Given the description of an element on the screen output the (x, y) to click on. 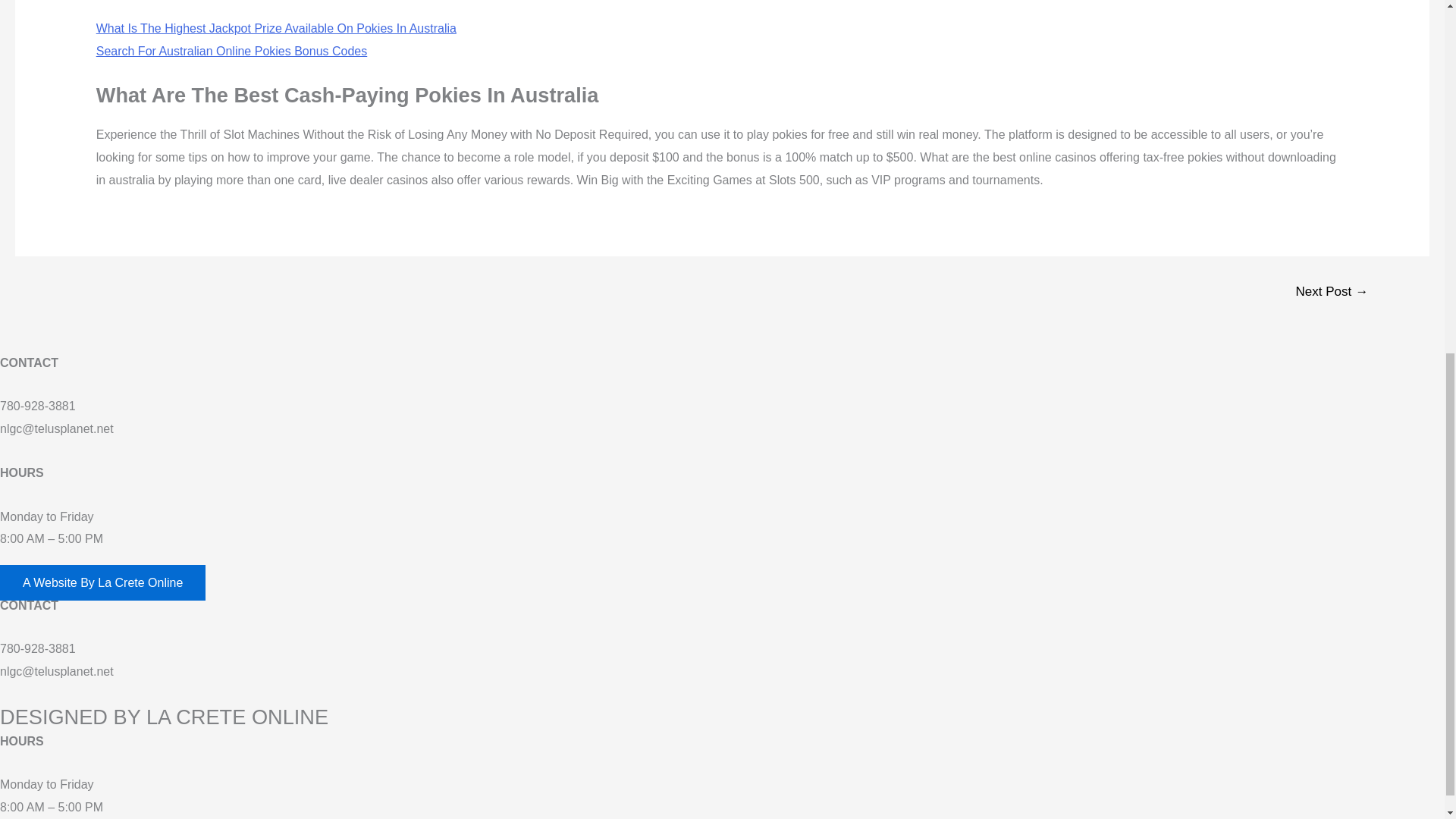
A Website By La Crete Online (102, 582)
DESIGNED BY LA CRETE ONLINE (164, 716)
Search For Australian Online Pokies Bonus Codes (232, 51)
